Given the description of an element on the screen output the (x, y) to click on. 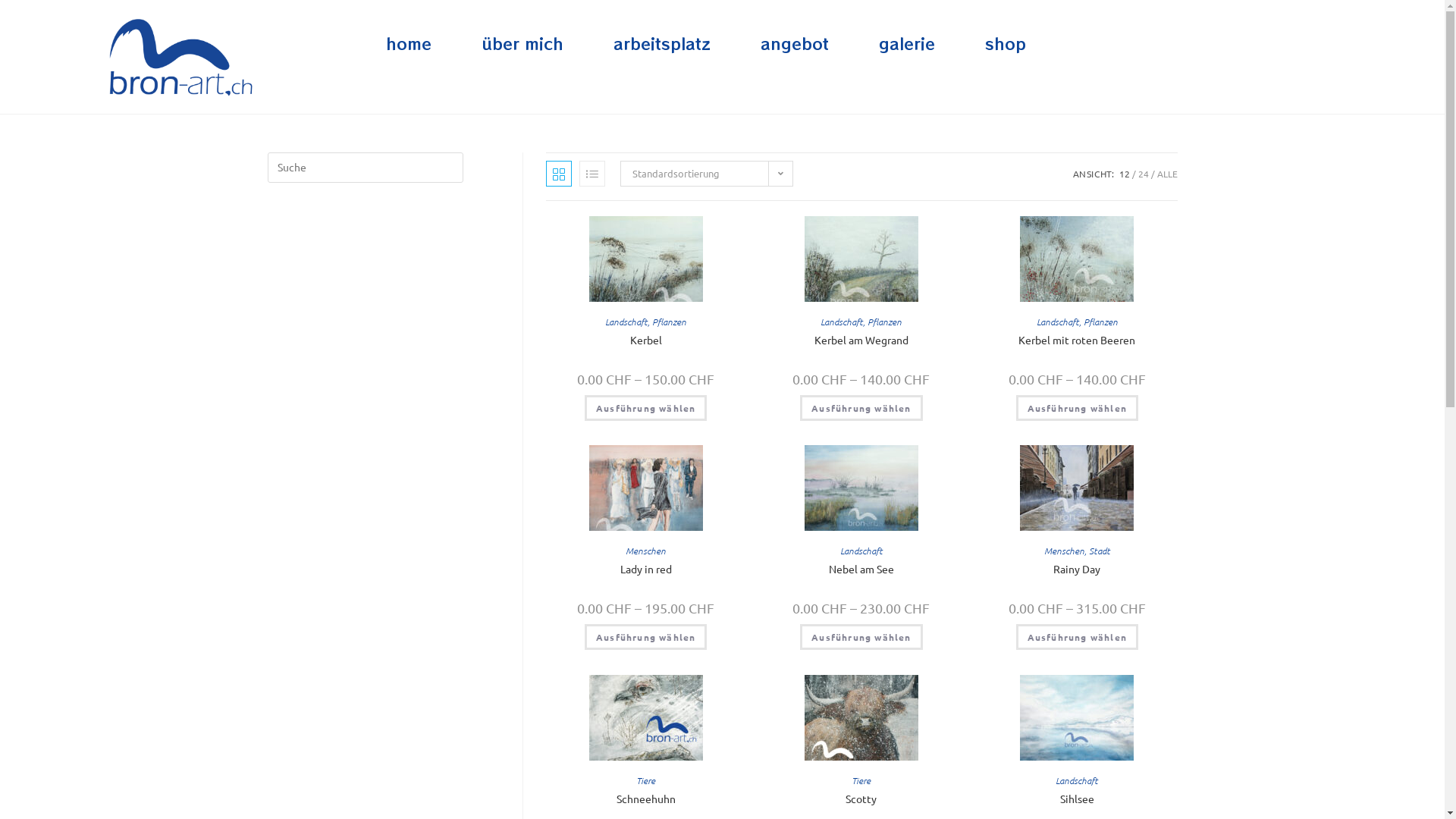
Rainy Day Element type: text (1076, 569)
24 Element type: text (1142, 173)
Tiere Element type: text (860, 780)
Pflanzen Element type: text (1100, 321)
Rasteransicht Element type: hover (558, 173)
Schneehuhn Element type: text (645, 798)
Scotty Element type: text (860, 798)
Menschen Element type: text (1064, 550)
Pflanzen Element type: text (669, 321)
Stadt Element type: text (1099, 550)
Nebel am See Element type: text (861, 569)
Tiere Element type: text (645, 780)
galerie Element type: text (906, 43)
Lady in red Element type: text (645, 569)
Sihlsee Element type: text (1077, 798)
Landschaft Element type: text (1057, 321)
Kerbel am Wegrand Element type: text (861, 340)
ALLE Element type: text (1167, 173)
Landschaft Element type: text (1076, 780)
home Element type: text (408, 43)
Landschaft Element type: text (861, 550)
12 Element type: text (1124, 173)
Kerbel Element type: text (646, 340)
Landschaft Element type: text (841, 321)
Menschen Element type: text (645, 550)
arbeitsplatz Element type: text (661, 43)
Landschaft Element type: text (626, 321)
shop Element type: text (1005, 43)
Pflanzen Element type: text (884, 321)
Listenansicht Element type: hover (592, 173)
Kerbel mit roten Beeren Element type: text (1076, 340)
angebot Element type: text (794, 43)
